Given the description of an element on the screen output the (x, y) to click on. 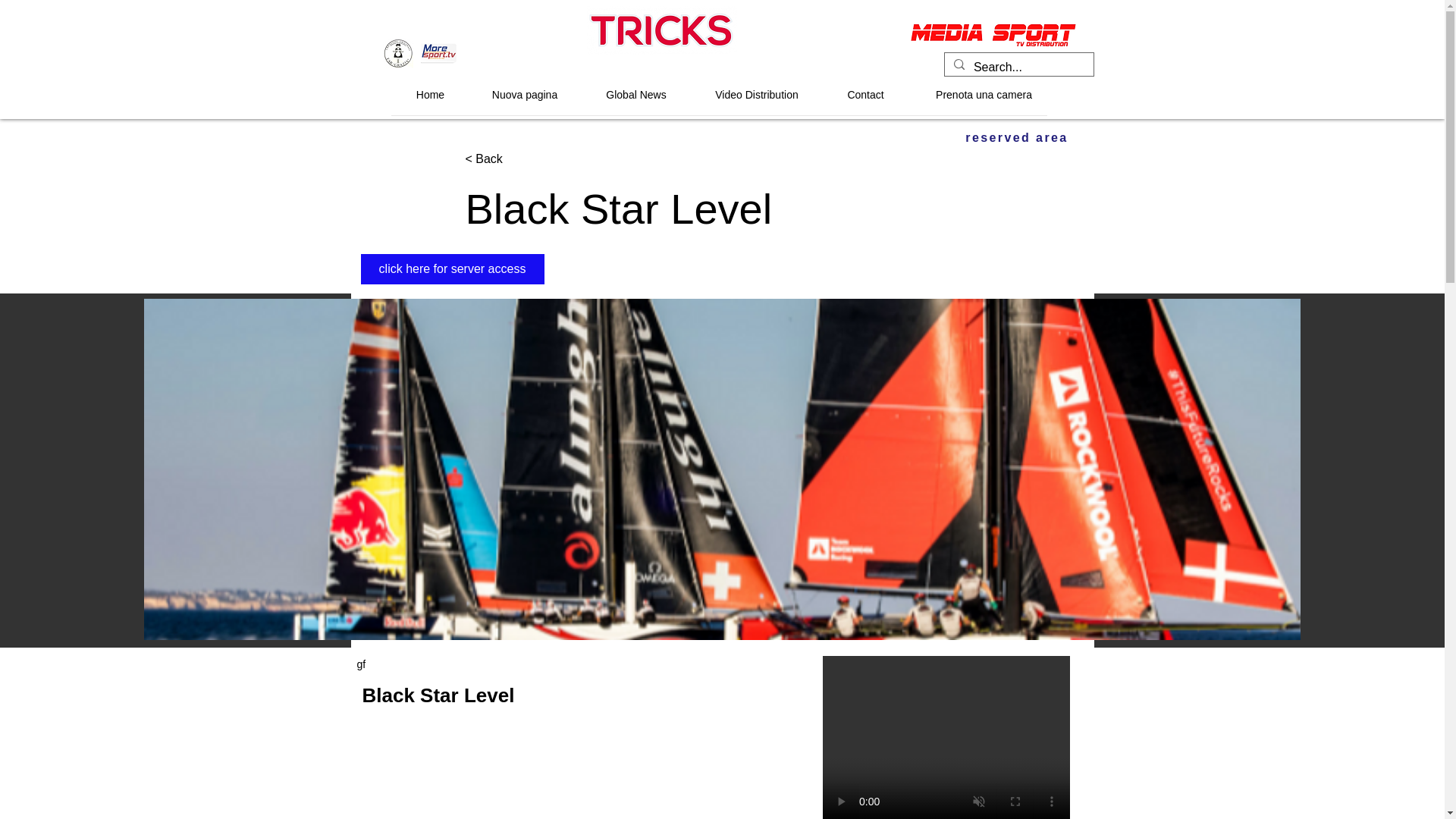
Prenota una camera (983, 94)
Contact (865, 94)
click here for server access (452, 268)
Home (430, 94)
Video Distribution (757, 94)
Nuova pagina (525, 94)
Global News (635, 94)
reserved area (1016, 137)
